Given the description of an element on the screen output the (x, y) to click on. 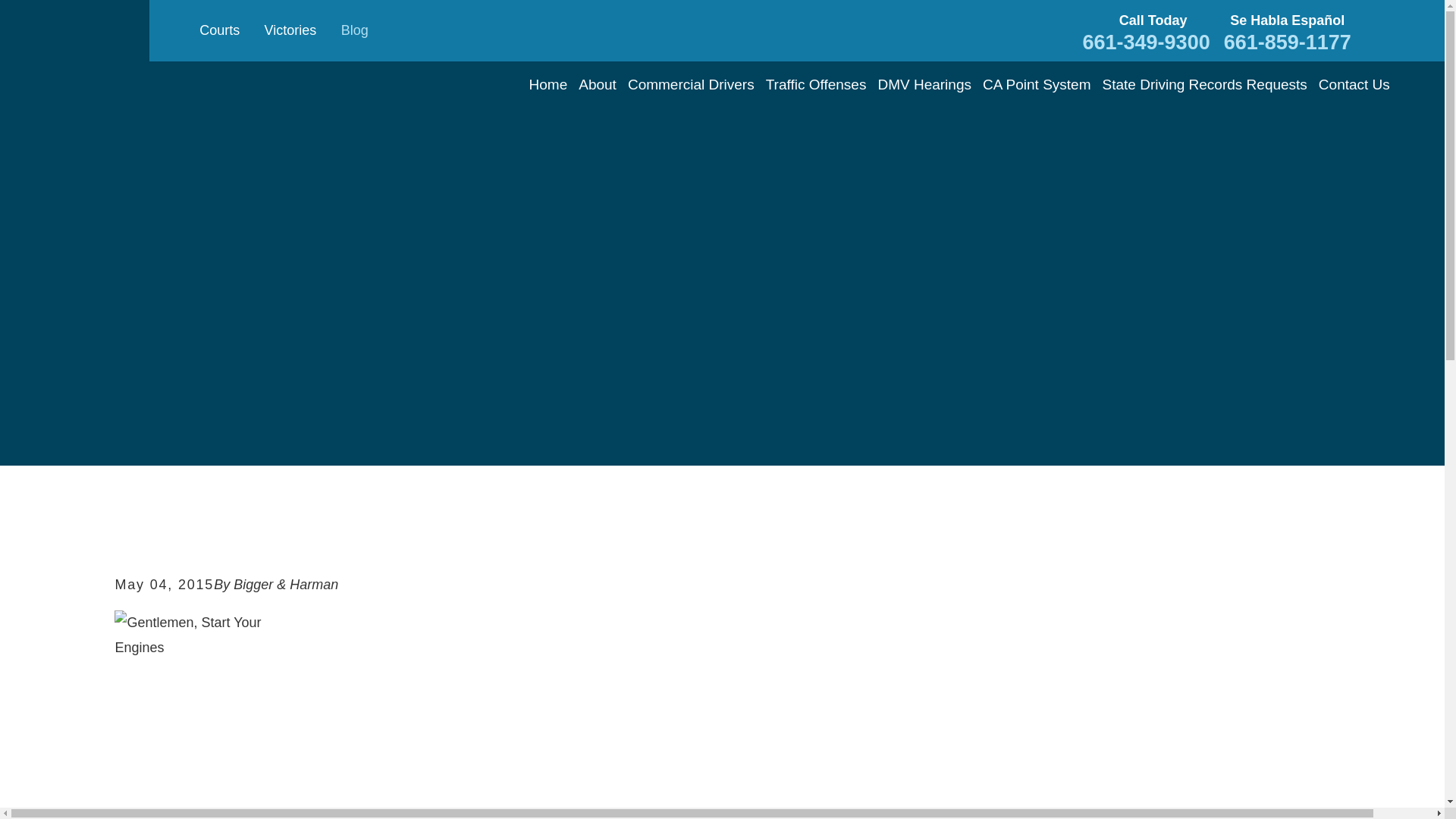
661-859-1177 (1287, 42)
About (596, 85)
Courts (219, 29)
State Driving Records Requests (1204, 85)
CA Point System (1036, 85)
DMV Hearings (924, 85)
Contact Us (1354, 85)
Traffic Offenses (815, 85)
Home (548, 85)
Victories (290, 29)
Commercial Drivers (690, 85)
661-349-9300 (1146, 42)
Blog (354, 29)
